Given the description of an element on the screen output the (x, y) to click on. 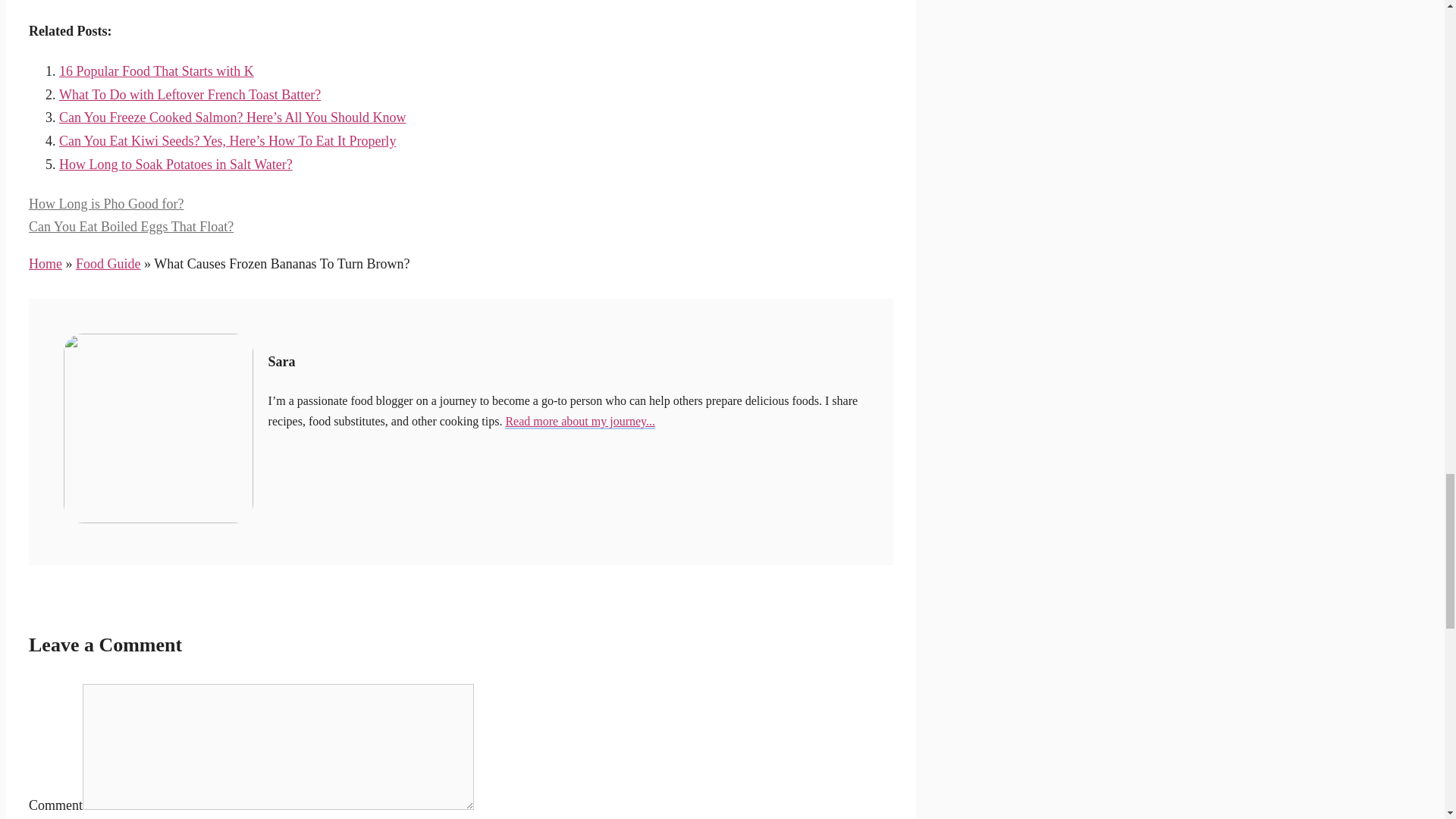
Home (45, 263)
What To Do with Leftover French Toast Batter? (189, 94)
What To Do with Leftover French Toast Batter? (189, 94)
Can You Eat Boiled Eggs That Float? (130, 226)
How Long is Pho Good for? (106, 203)
16 Popular Food That Starts with K (156, 70)
How Long to Soak Potatoes in Salt Water? (175, 164)
16 Popular Food That Starts with K (156, 70)
How Long to Soak Potatoes in Salt Water? (175, 164)
